Given the description of an element on the screen output the (x, y) to click on. 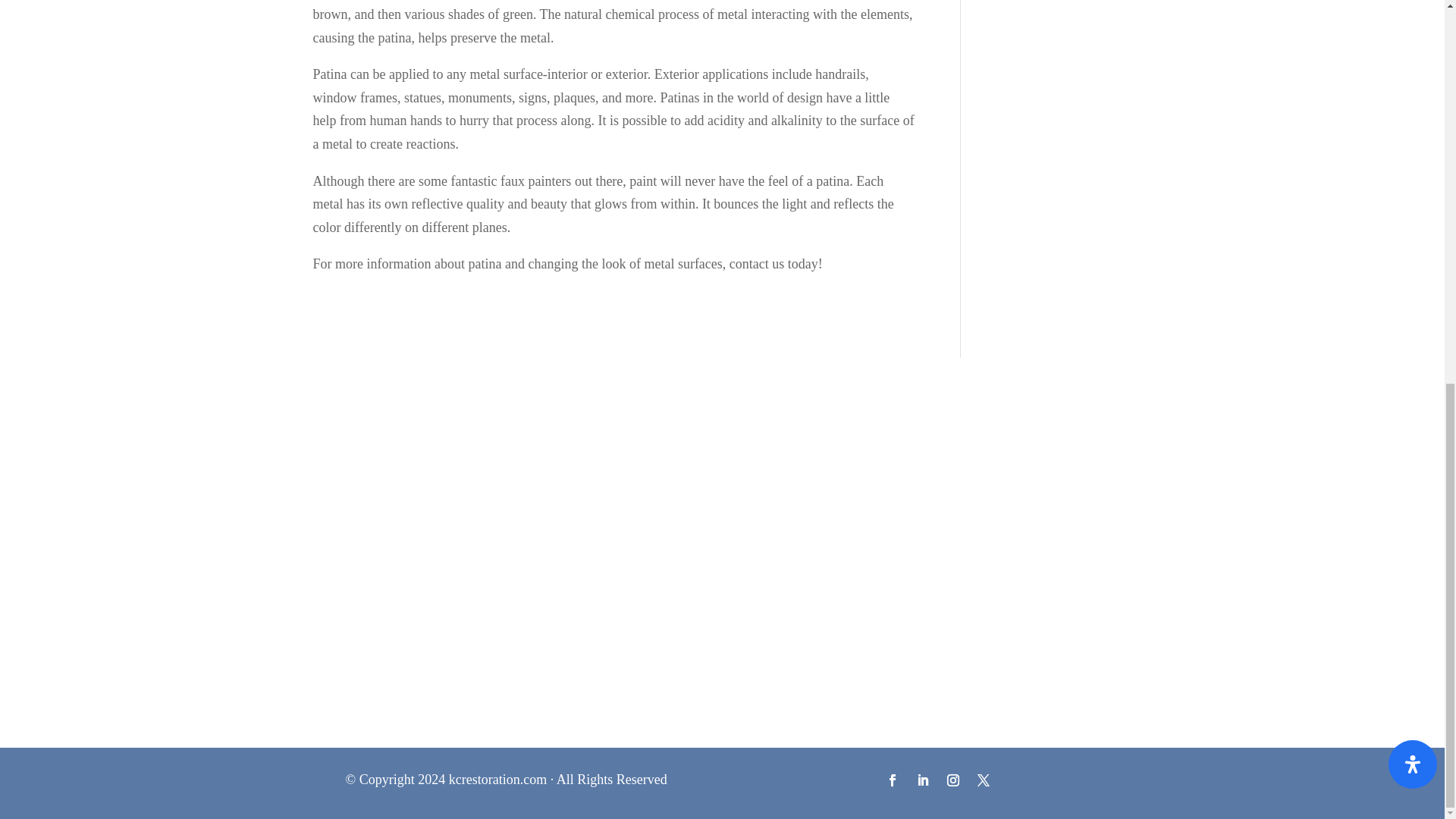
Follow on Facebook (892, 780)
Follow on X (983, 780)
Accessibility (1413, 45)
Follow on Instagram (952, 780)
Follow on LinkedIn (922, 780)
